Given the description of an element on the screen output the (x, y) to click on. 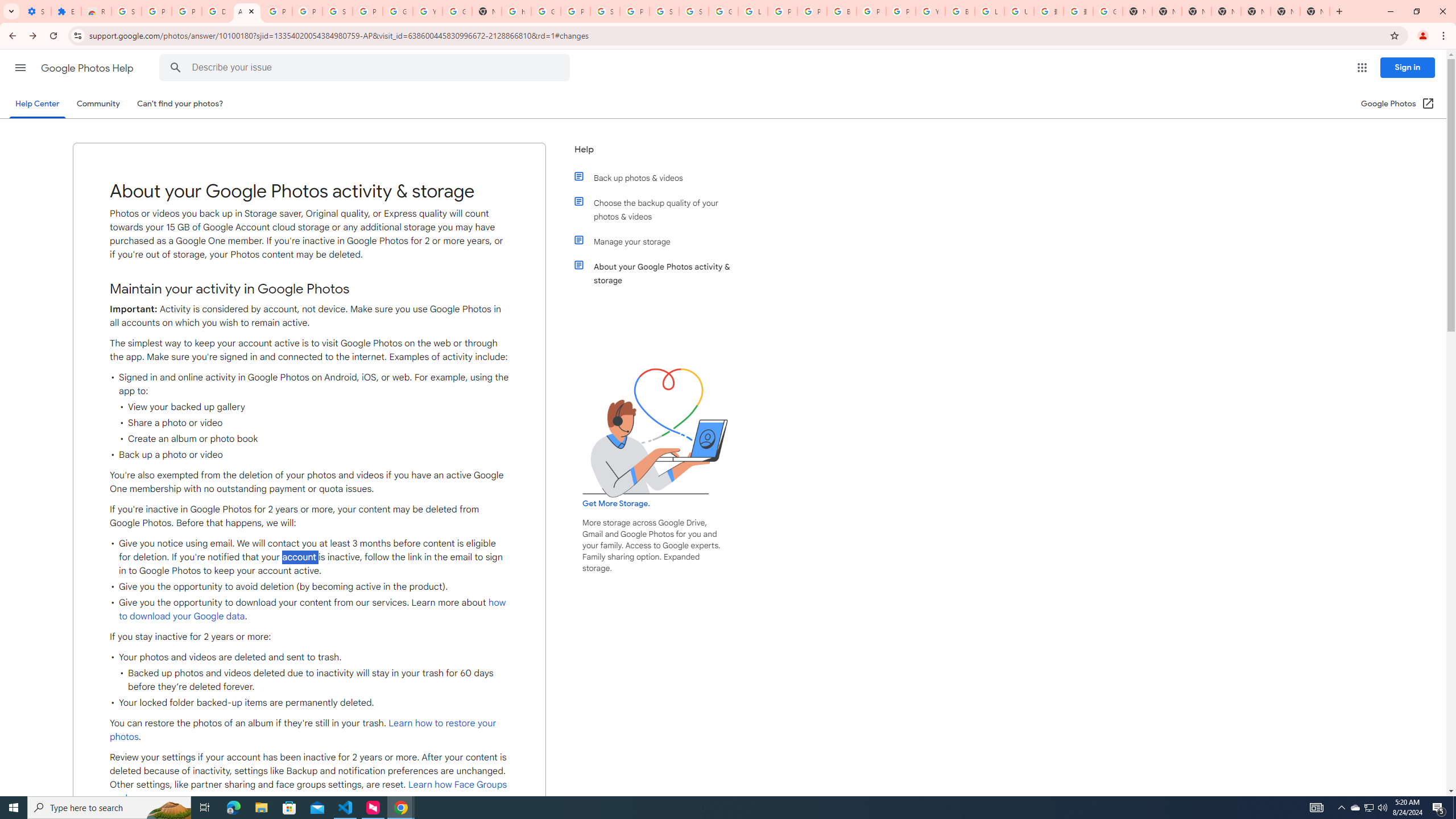
Privacy Help Center - Policies Help (782, 11)
Privacy Help Center - Policies Help (811, 11)
Sign in - Google Accounts (693, 11)
